Given the description of an element on the screen output the (x, y) to click on. 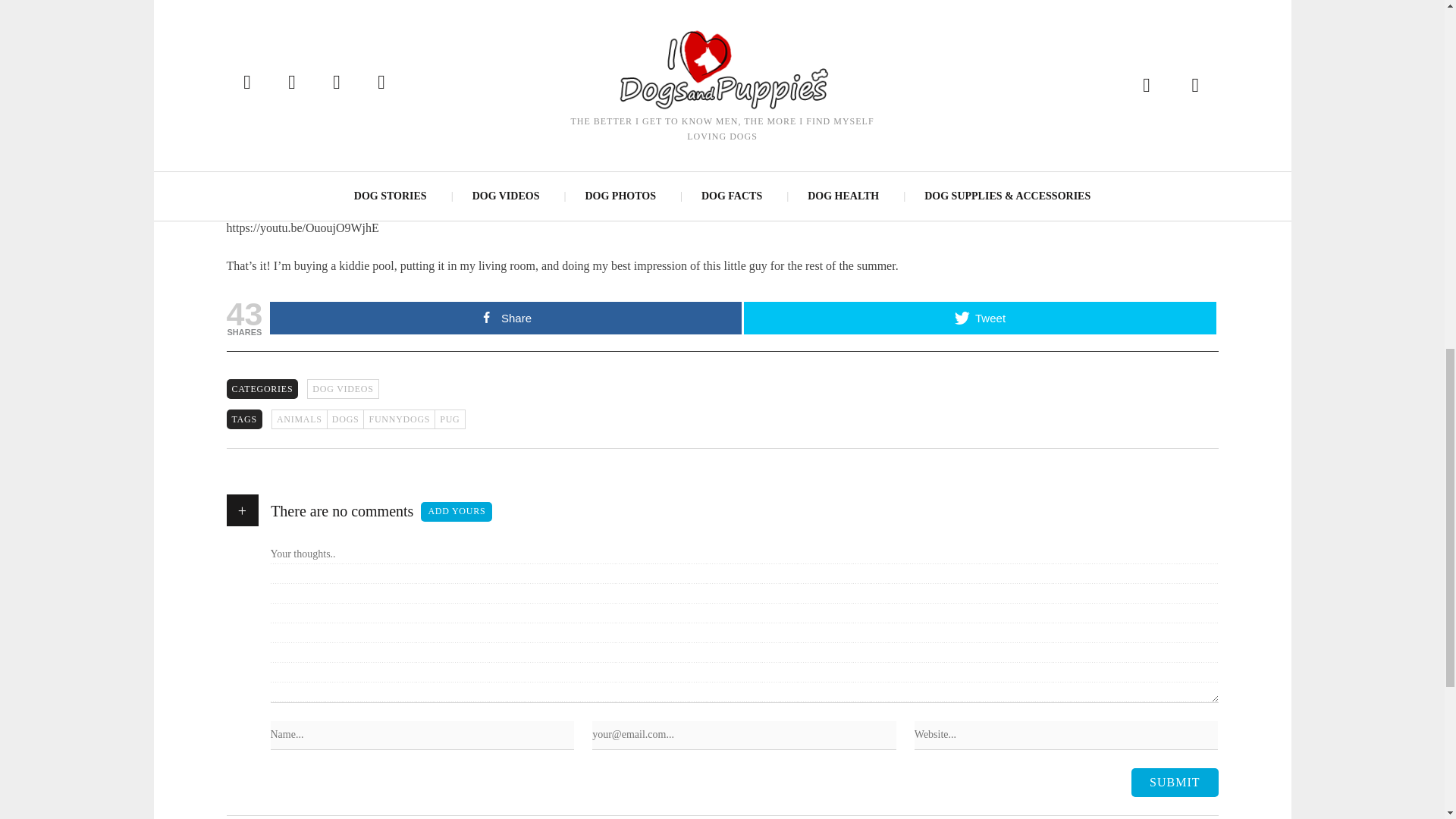
ADD YOURS (456, 511)
View all posts in Dog Videos (342, 388)
View all posts tagged funnydogs (397, 419)
seriously knows how to chill (541, 105)
PUG (448, 419)
ANIMALS (298, 419)
Share (505, 318)
DOG VIDEOS (342, 388)
Submit (1174, 782)
View all posts tagged animals (298, 419)
Mr.Dog (262, 56)
0 (442, 57)
Posts by Mr.Dog (262, 56)
Submit (1174, 782)
View all posts tagged Pug (448, 419)
